Given the description of an element on the screen output the (x, y) to click on. 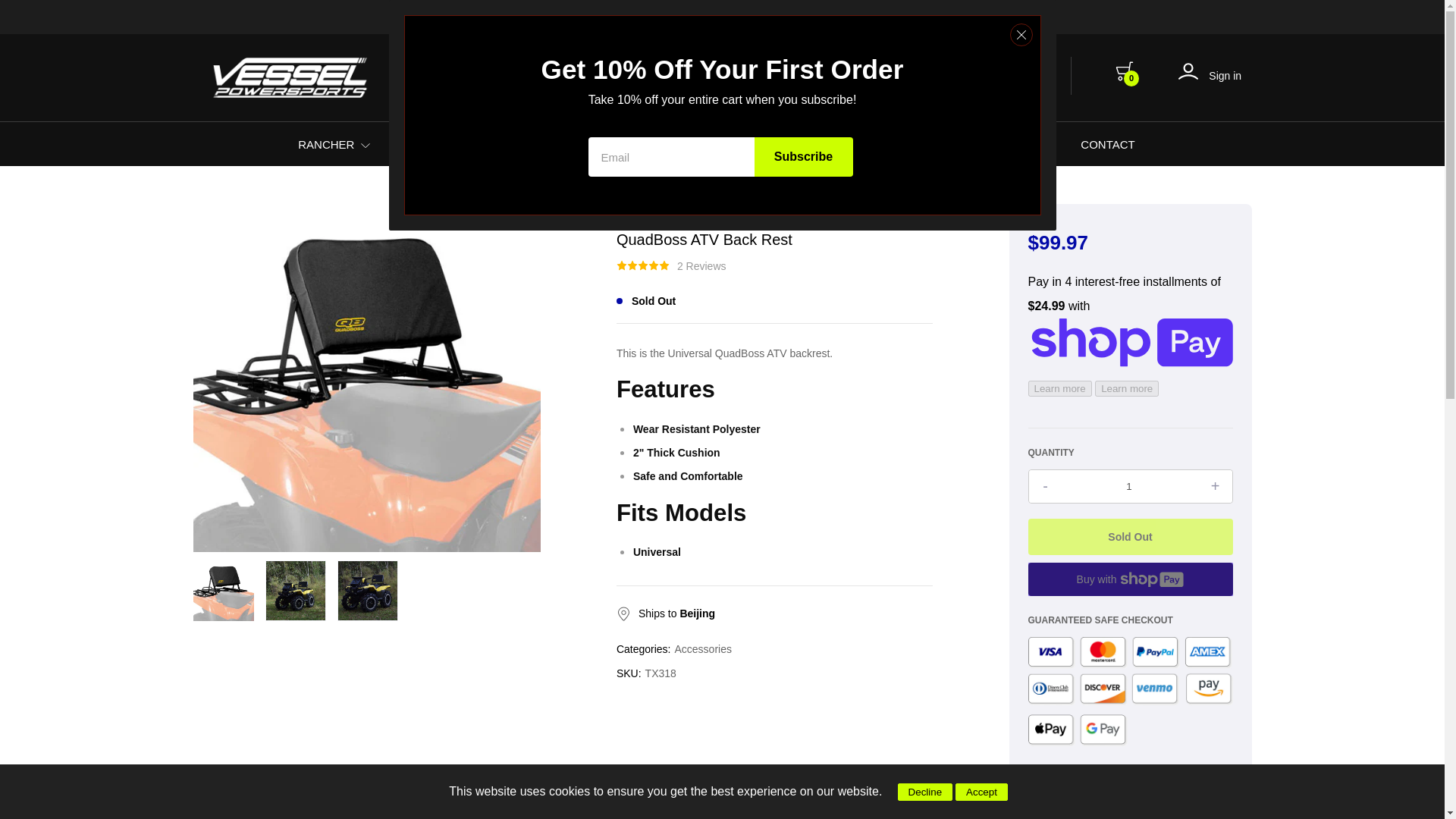
Accessories (703, 648)
1 (589, 144)
Sign in (1209, 75)
Accept (981, 791)
FOREMAN 1 (447, 144)
1 (698, 144)
RANCHER 1 (339, 144)
Shop Now (850, 16)
1 (478, 144)
PIONEER 1 (669, 144)
1 (1129, 486)
1 (365, 144)
1 (791, 144)
RUBICON 1 (560, 144)
Decline (925, 791)
